Given the description of an element on the screen output the (x, y) to click on. 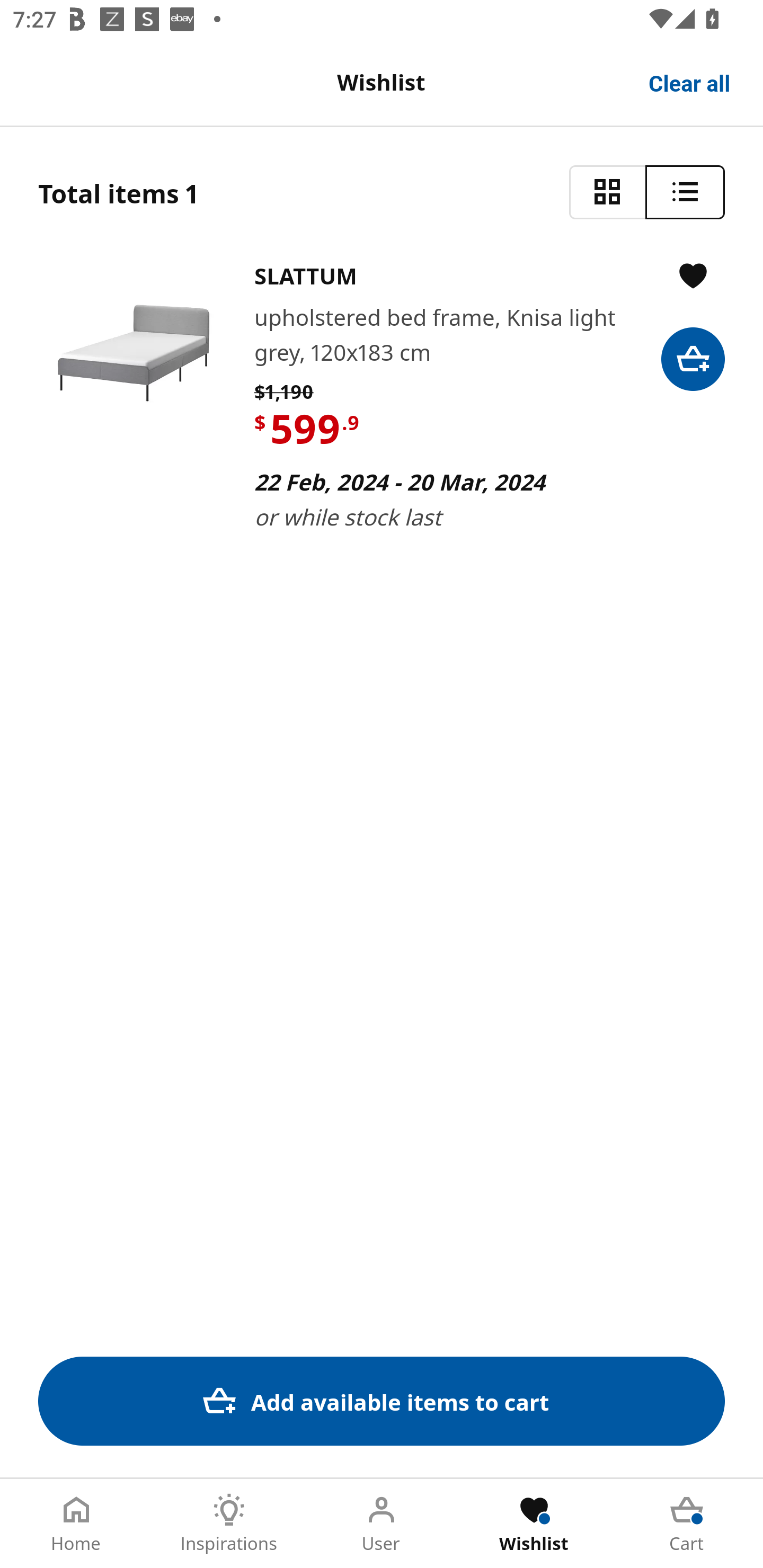
Clear all (689, 81)
Add available items to cart (381, 1400)
Home
Tab 1 of 5 (76, 1522)
Inspirations
Tab 2 of 5 (228, 1522)
User
Tab 3 of 5 (381, 1522)
Wishlist
Tab 4 of 5 (533, 1522)
Cart
Tab 5 of 5 (686, 1522)
